Given the description of an element on the screen output the (x, y) to click on. 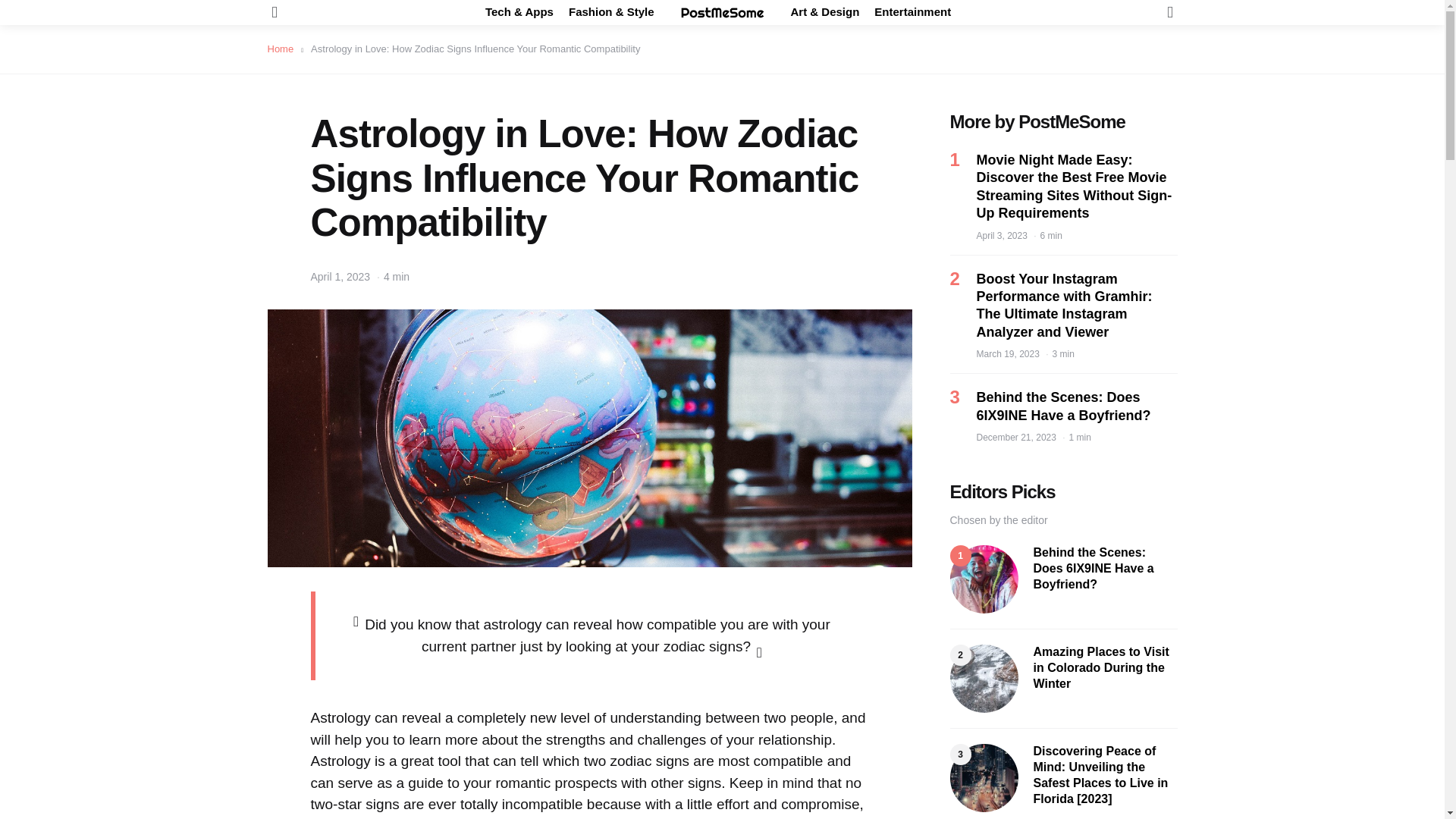
Entertainment (912, 12)
Behind the Scenes: Does 6IX9INE Have a Boyfriend? (1104, 568)
Amazing Places to Visit in Colorado During the Winter (1104, 667)
Behind the Scenes: Does 6IX9INE Have a Boyfriend? (1076, 407)
Home (284, 48)
